Given the description of an element on the screen output the (x, y) to click on. 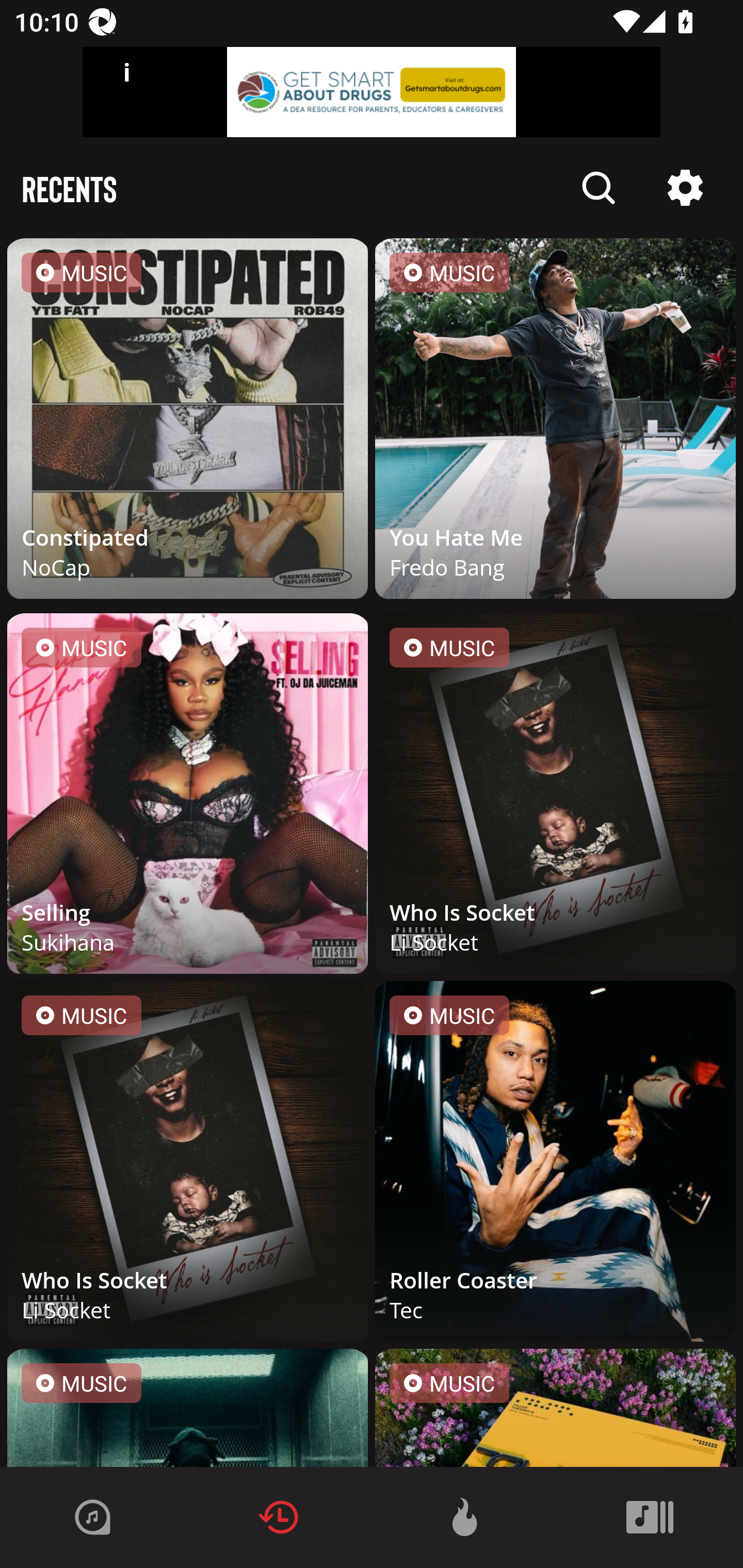
Description (598, 188)
Description (684, 188)
MUSIC Constipated NoCap (187, 422)
MUSIC You Hate Me Fredo Bang (555, 422)
MUSIC Selling Sukihana (187, 797)
MUSIC Who Is Socket Li Socket (555, 797)
MUSIC Who Is Socket Li Socket (187, 1164)
MUSIC Roller Coaster Tec (555, 1164)
